Given the description of an element on the screen output the (x, y) to click on. 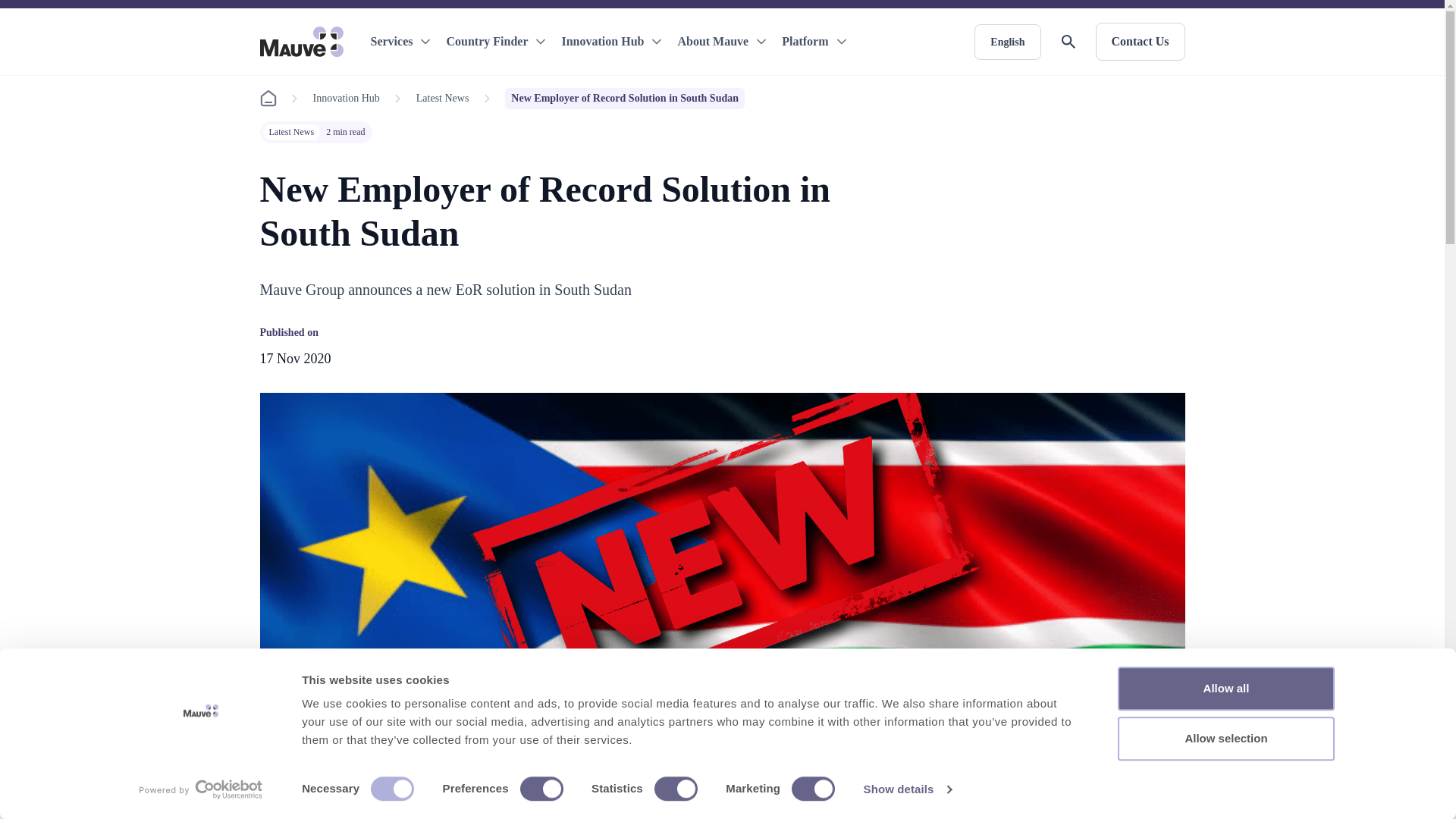
Tuesday 17 November 2020 at 09:19:07 GMT (294, 358)
Show details (907, 789)
